Given the description of an element on the screen output the (x, y) to click on. 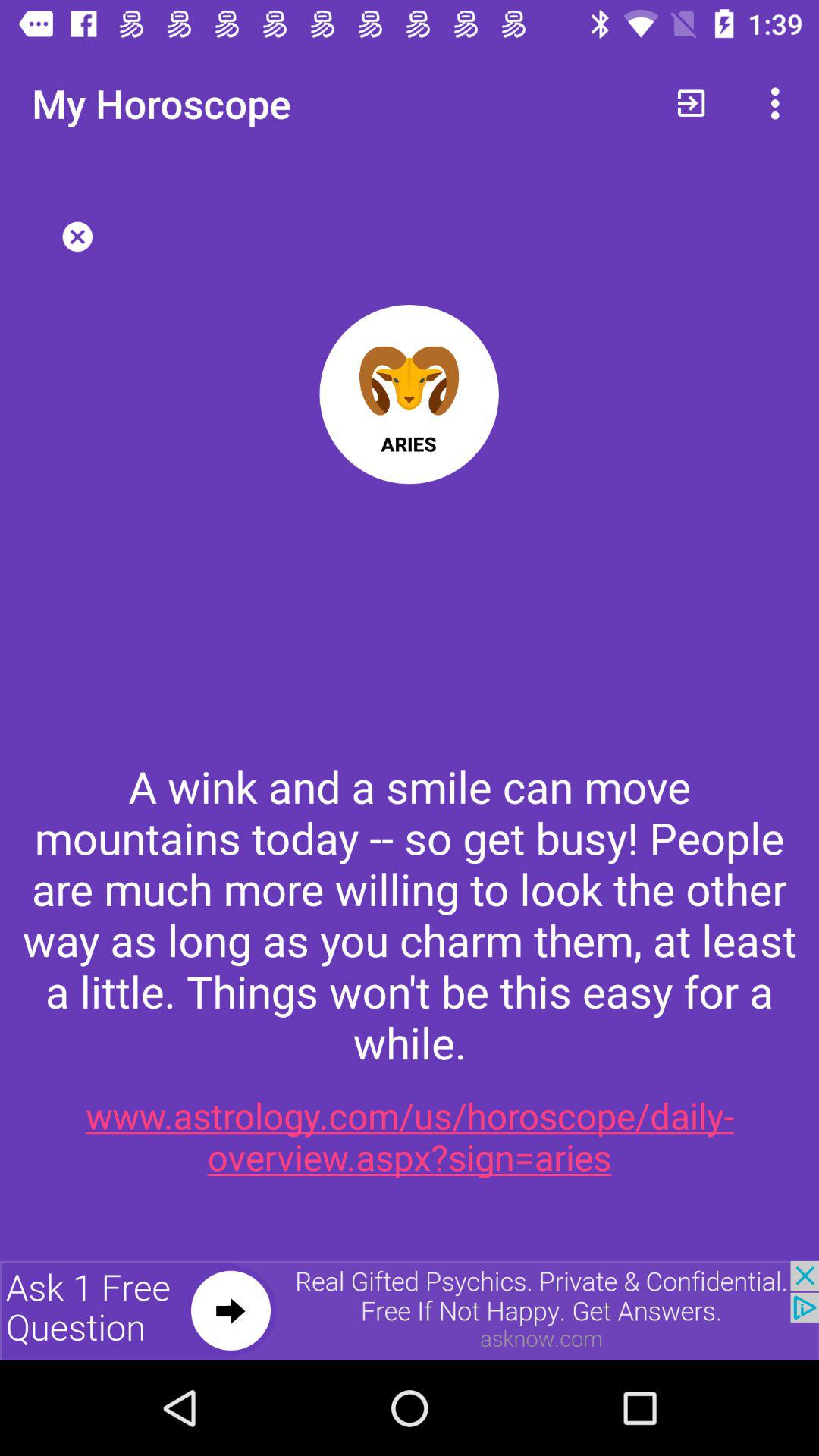
advertisement adding button (409, 1310)
